Given the description of an element on the screen output the (x, y) to click on. 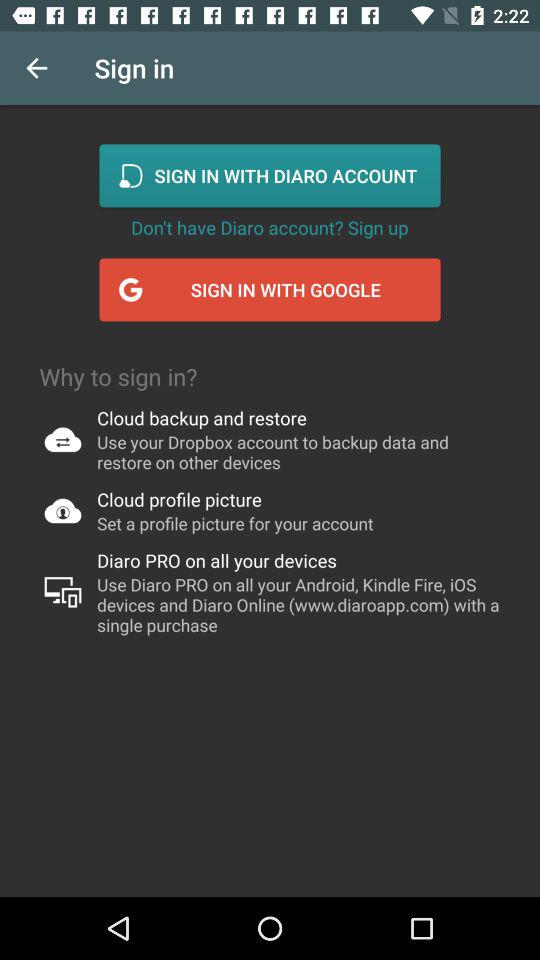
click on the logo beside cloud (62, 439)
go to the green colored button below sign in (269, 175)
select the icon left to the cloud profile picture on left hand side (62, 510)
